Given the description of an element on the screen output the (x, y) to click on. 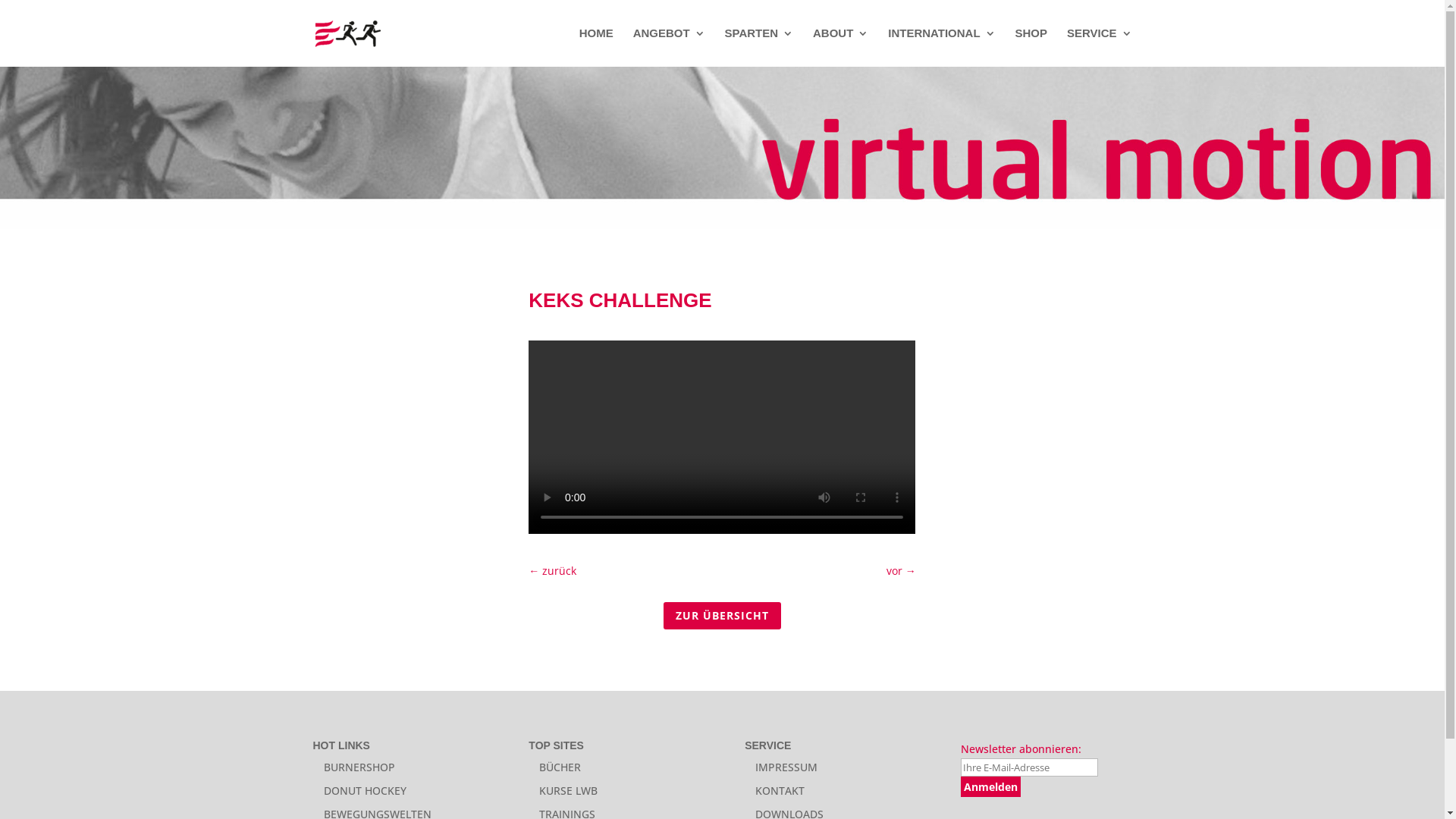
KONTAKT Element type: text (779, 790)
INTERNATIONAL Element type: text (941, 47)
HOME Element type: text (596, 47)
ABOUT Element type: text (840, 47)
ANGEBOT Element type: text (669, 47)
SERVICE Element type: text (1099, 47)
KURSE LWB Element type: text (568, 790)
DONUT HOCKEY Element type: text (364, 790)
BURNERSHOP Element type: text (358, 766)
SPARTEN Element type: text (758, 47)
IMPRESSUM Element type: text (786, 766)
SHOP Element type: text (1030, 47)
Anmelden Element type: text (990, 786)
burnermotion-header-virtualmotion Element type: hover (722, 147)
